Given the description of an element on the screen output the (x, y) to click on. 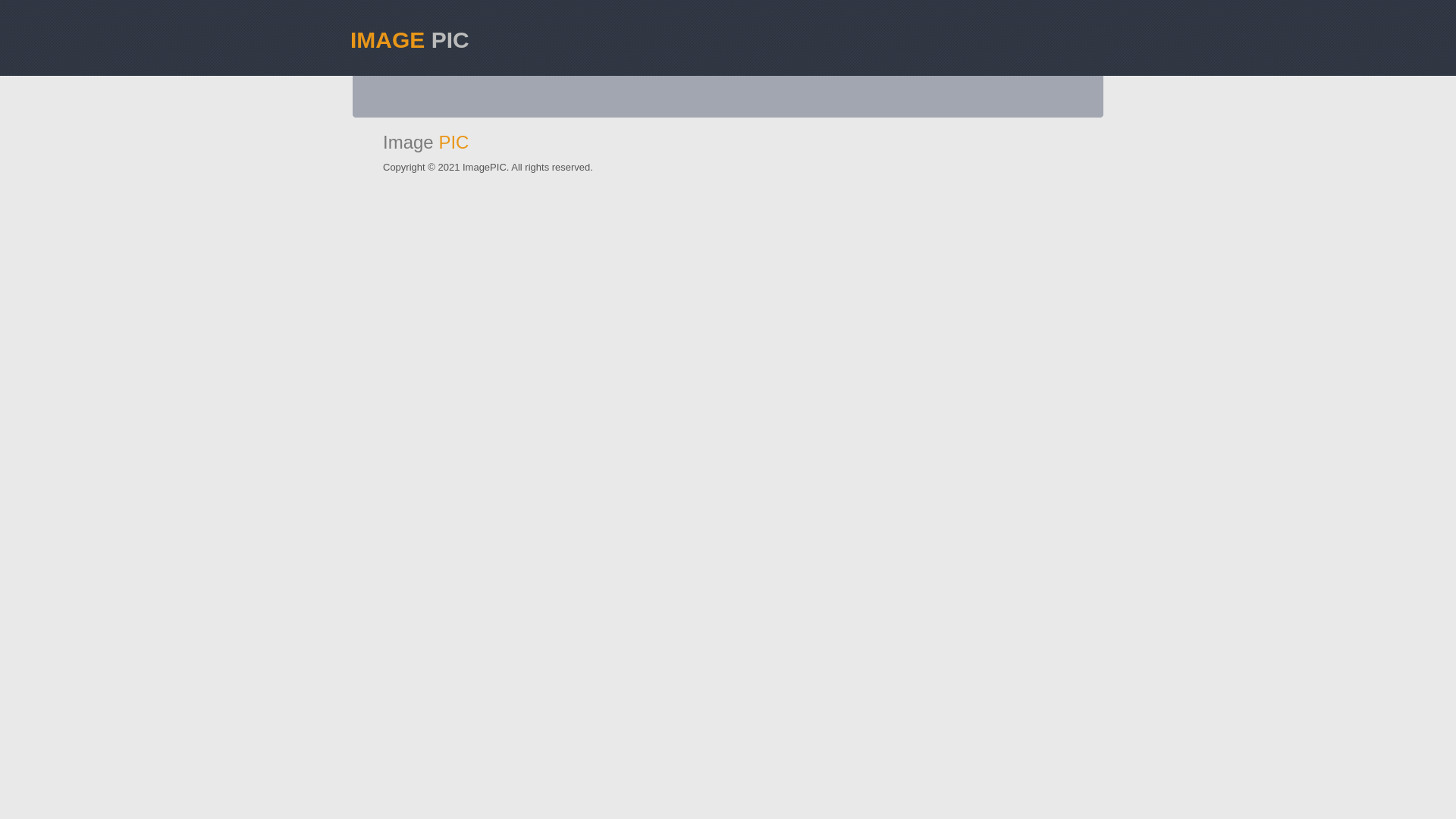
IMAGE PIC Element type: text (727, 30)
